Given the description of an element on the screen output the (x, y) to click on. 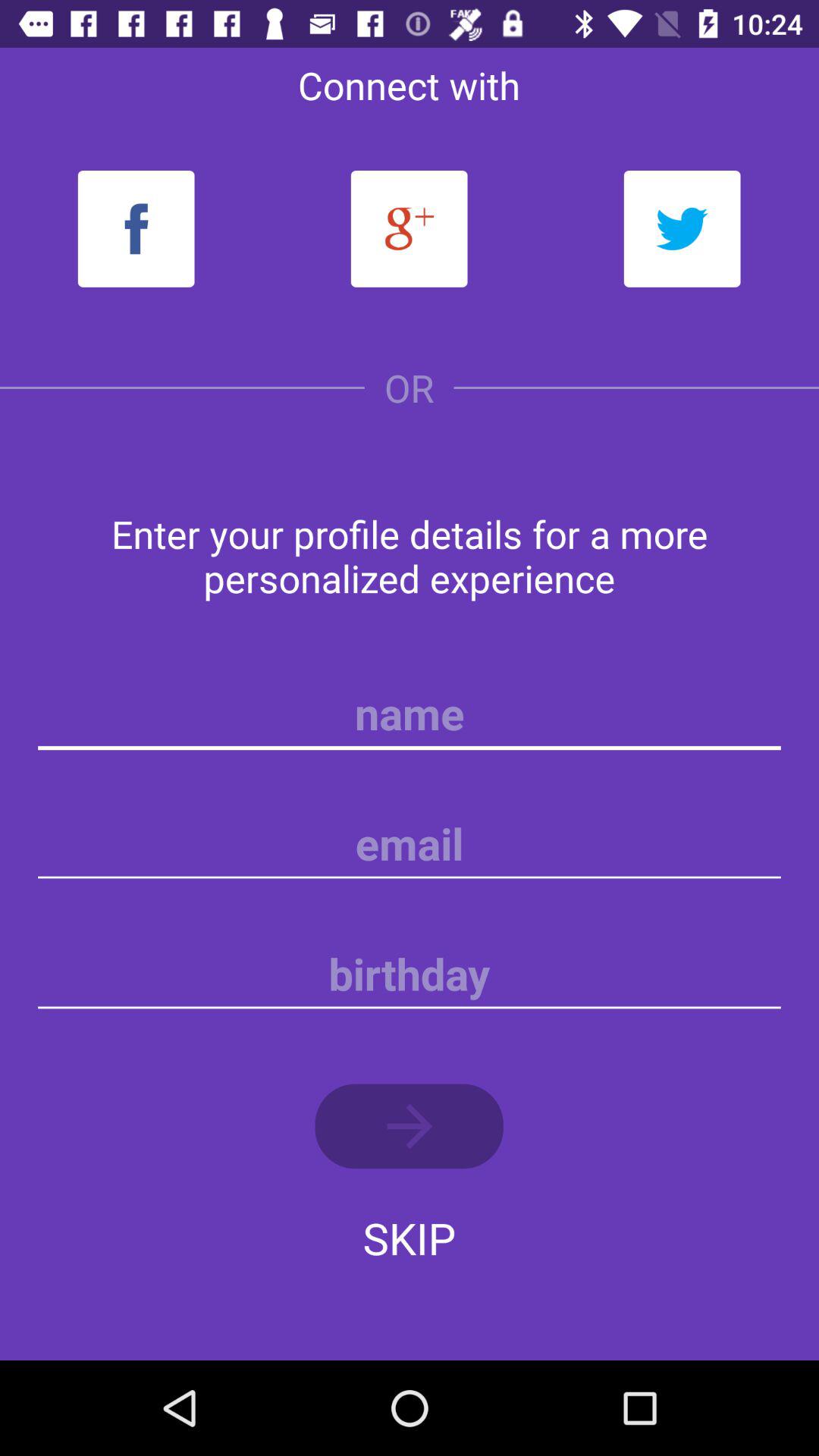
birthday (409, 974)
